Given the description of an element on the screen output the (x, y) to click on. 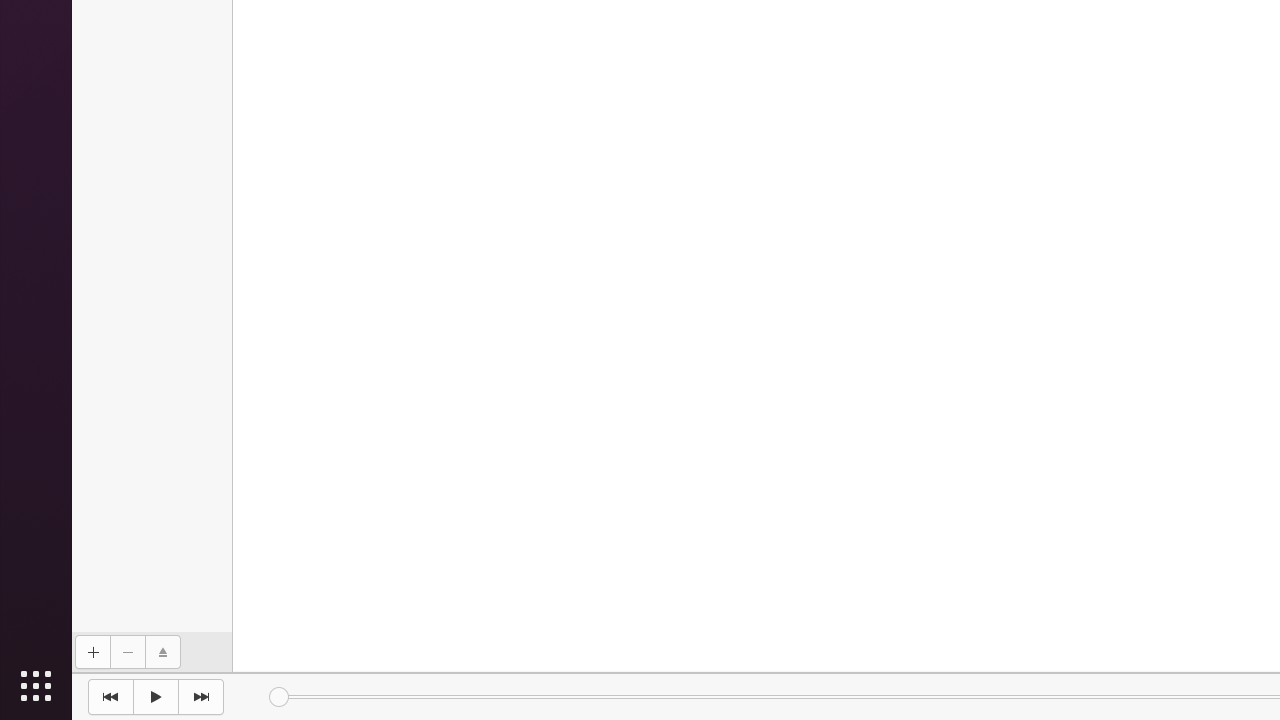
Remove Element type: push-button (127, 652)
Add Element type: toggle-button (92, 652)
